Given the description of an element on the screen output the (x, y) to click on. 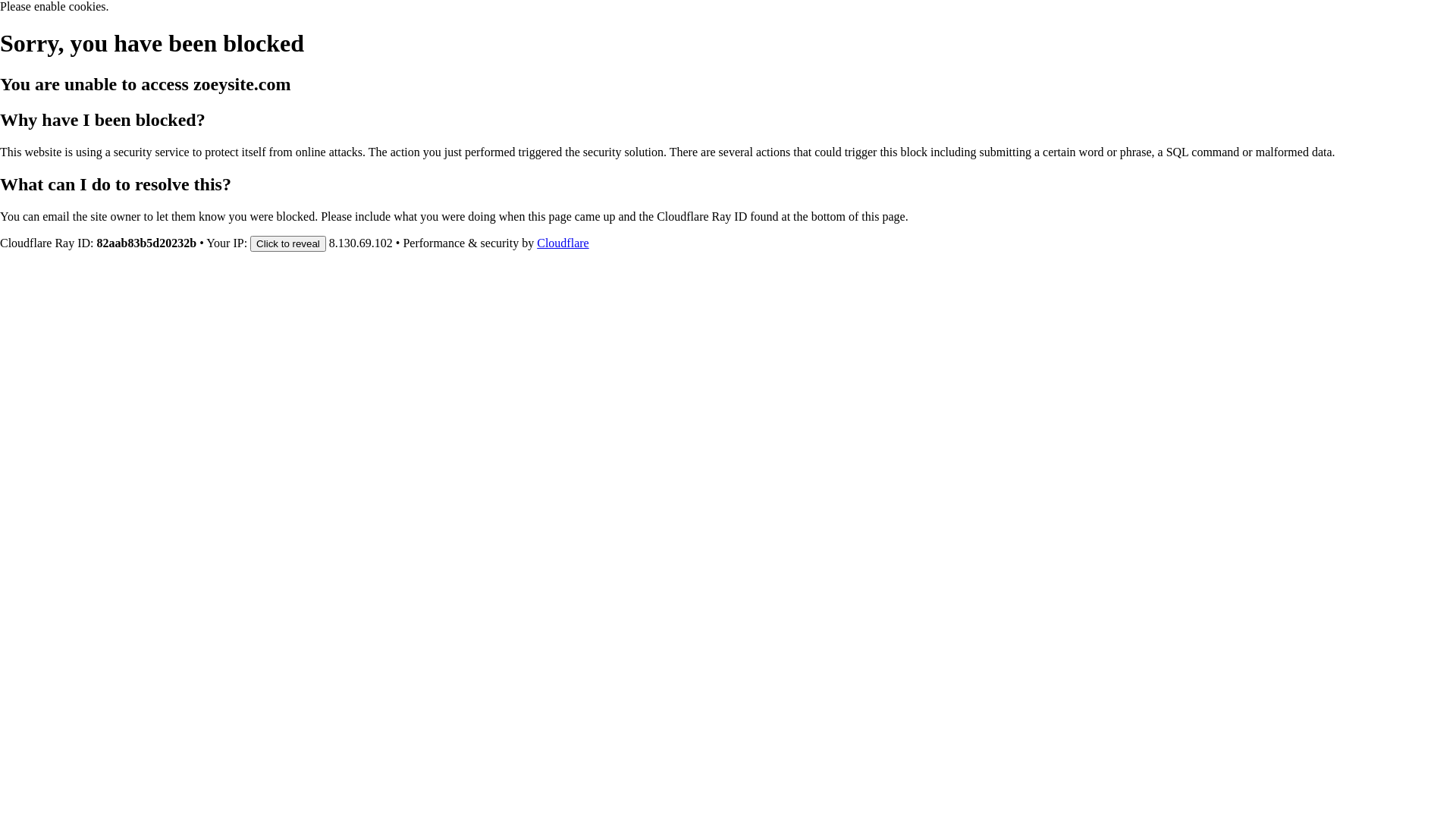
Click to reveal Element type: text (288, 243)
Cloudflare Element type: text (562, 242)
